Given the description of an element on the screen output the (x, y) to click on. 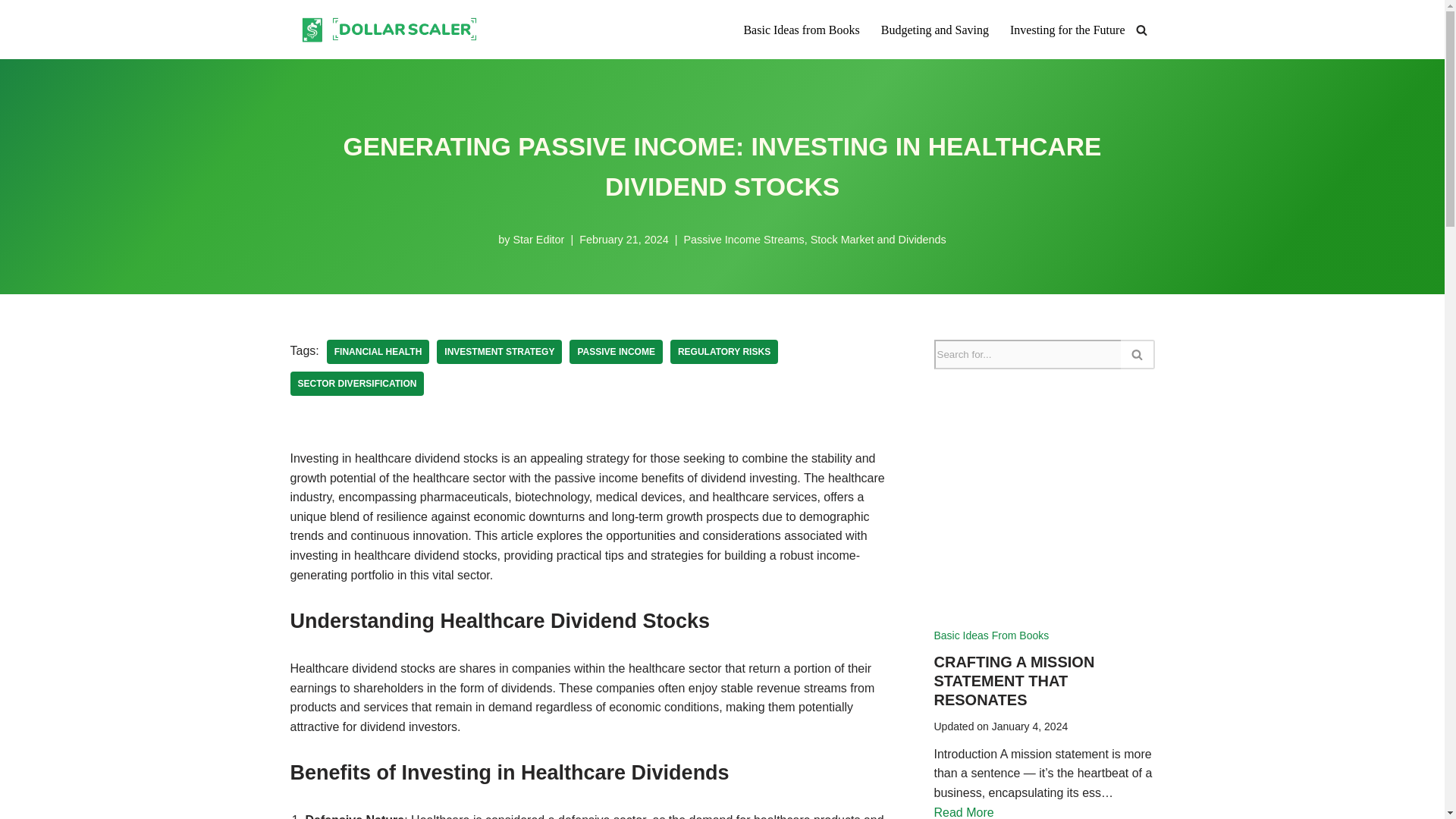
INVESTMENT STRATEGY (499, 351)
Investment Strategy (499, 351)
Posts by Star Editor (538, 239)
Sector Diversification (356, 383)
PASSIVE INCOME (615, 351)
FINANCIAL HEALTH (377, 351)
Investing for the Future (1067, 29)
Basic Ideas from Books (800, 29)
Star Editor (538, 239)
Budgeting and Saving (934, 29)
SECTOR DIVERSIFICATION (356, 383)
passive income (615, 351)
Financial Health (377, 351)
Passive Income Streams (742, 239)
